Given the description of an element on the screen output the (x, y) to click on. 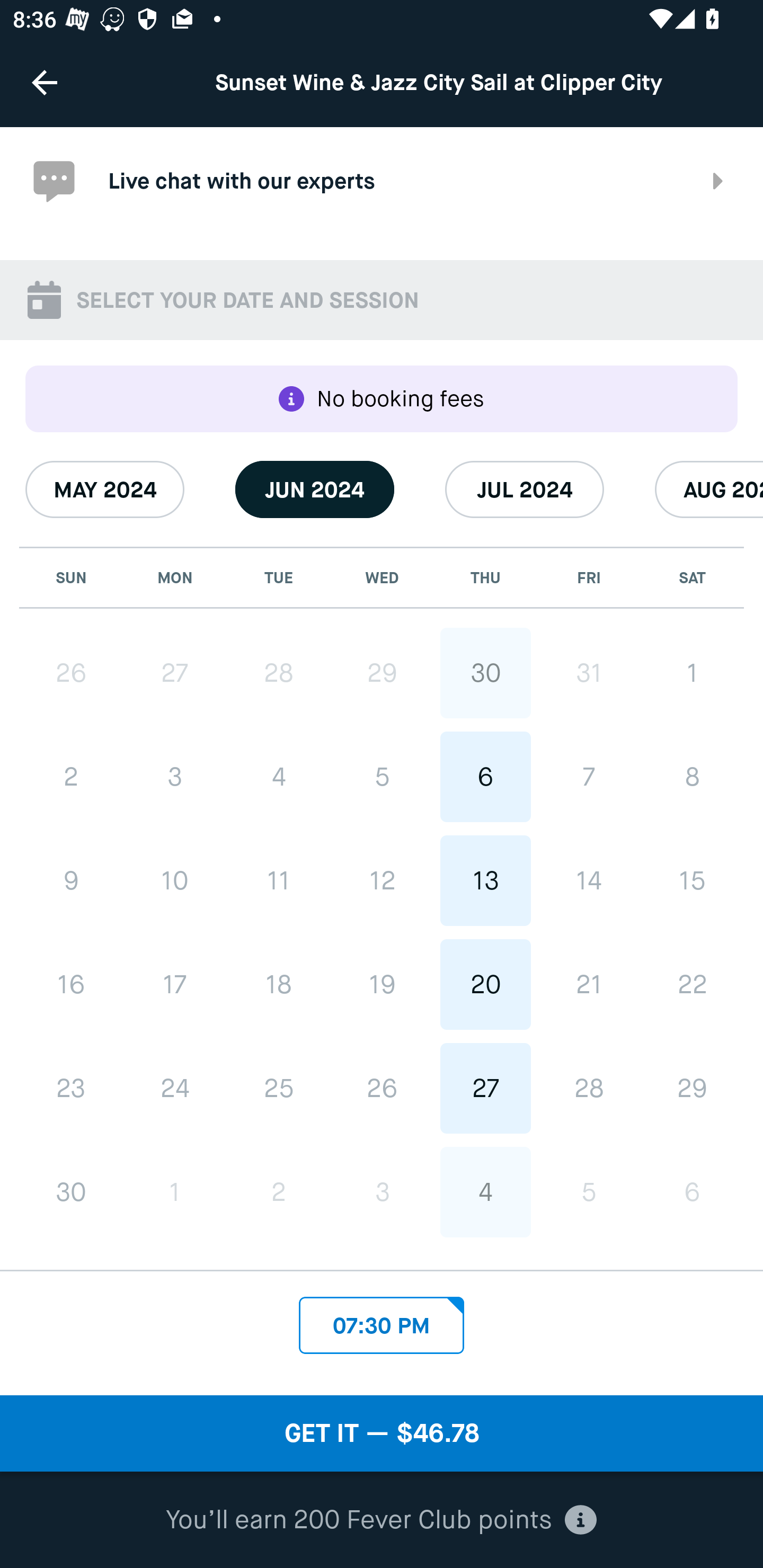
Navigate up (44, 82)
Live chat with our experts (381, 181)
MAY 2024 (104, 488)
JUN 2024 (314, 488)
JUL 2024 (524, 488)
AUG 2024 (708, 488)
26 (70, 672)
27 (174, 672)
28 (278, 672)
29 (382, 672)
30 (485, 672)
31 (588, 672)
1 (692, 672)
2 (70, 777)
3 (174, 777)
4 (278, 777)
5 (382, 776)
6 (485, 776)
7 (588, 776)
8 (692, 776)
9 (70, 880)
10 (174, 880)
11 (278, 880)
12 (382, 880)
13 (485, 880)
14 (588, 880)
15 (692, 880)
16 (70, 984)
17 (174, 984)
18 (278, 984)
19 (382, 984)
20 (485, 984)
21 (588, 984)
22 (692, 984)
23 (70, 1087)
24 (174, 1087)
25 (278, 1087)
26 (382, 1087)
27 (485, 1087)
28 (588, 1087)
29 (692, 1087)
30 (70, 1192)
1 (174, 1192)
2 (278, 1192)
3 (382, 1191)
4 (485, 1191)
5 (588, 1191)
6 (692, 1191)
07:30 PM (381, 1320)
GET IT — $46.78 (381, 1433)
